Given the description of an element on the screen output the (x, y) to click on. 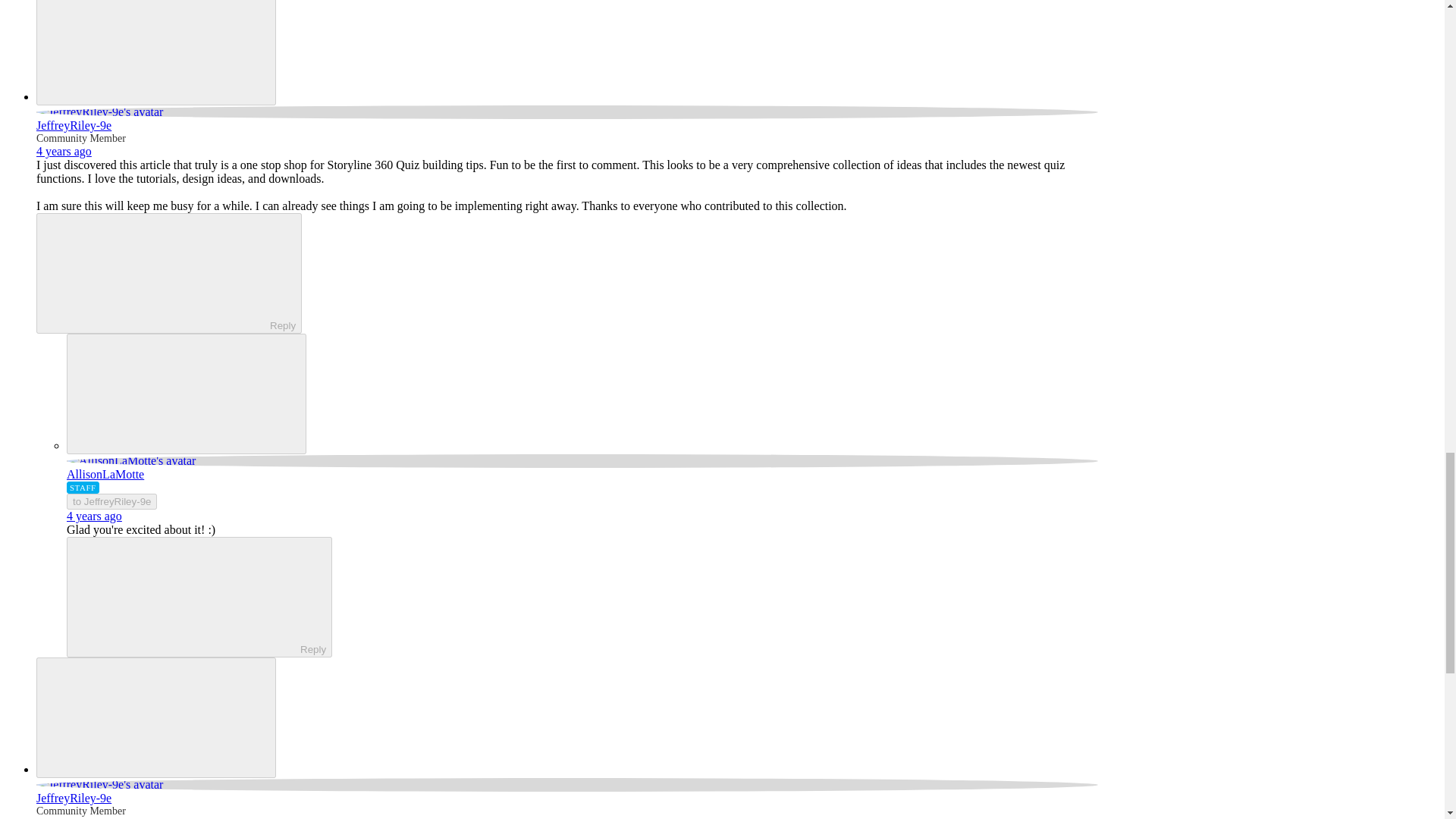
October 14, 2020 at 2:15 PM (94, 515)
October 13, 2020 at 4:55 PM (63, 818)
Reply (155, 272)
Reply (185, 595)
October 13, 2020 at 4:50 PM (63, 151)
